Given the description of an element on the screen output the (x, y) to click on. 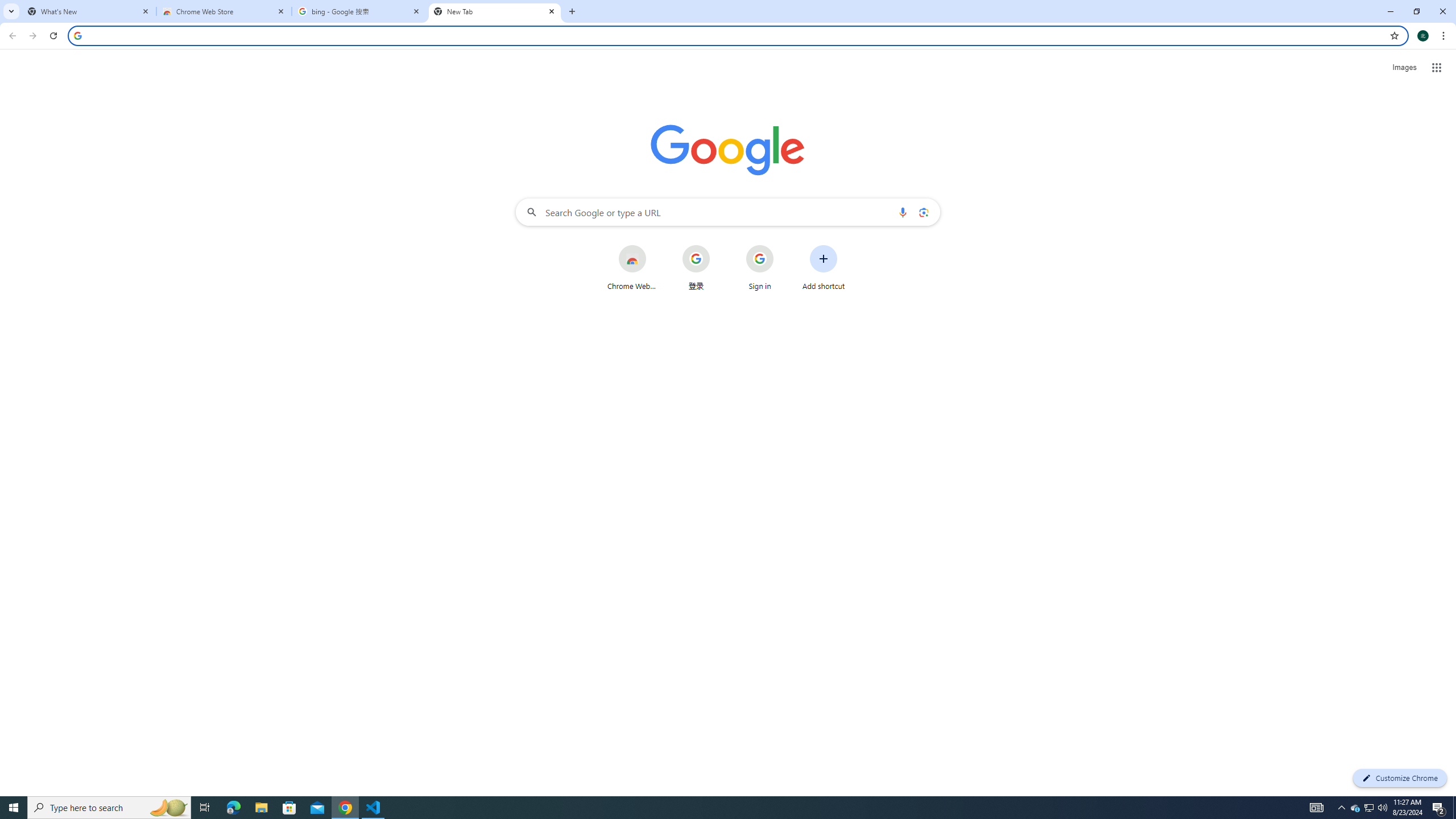
Black & White (Word 2013) (519, 91)
